Given the description of an element on the screen output the (x, y) to click on. 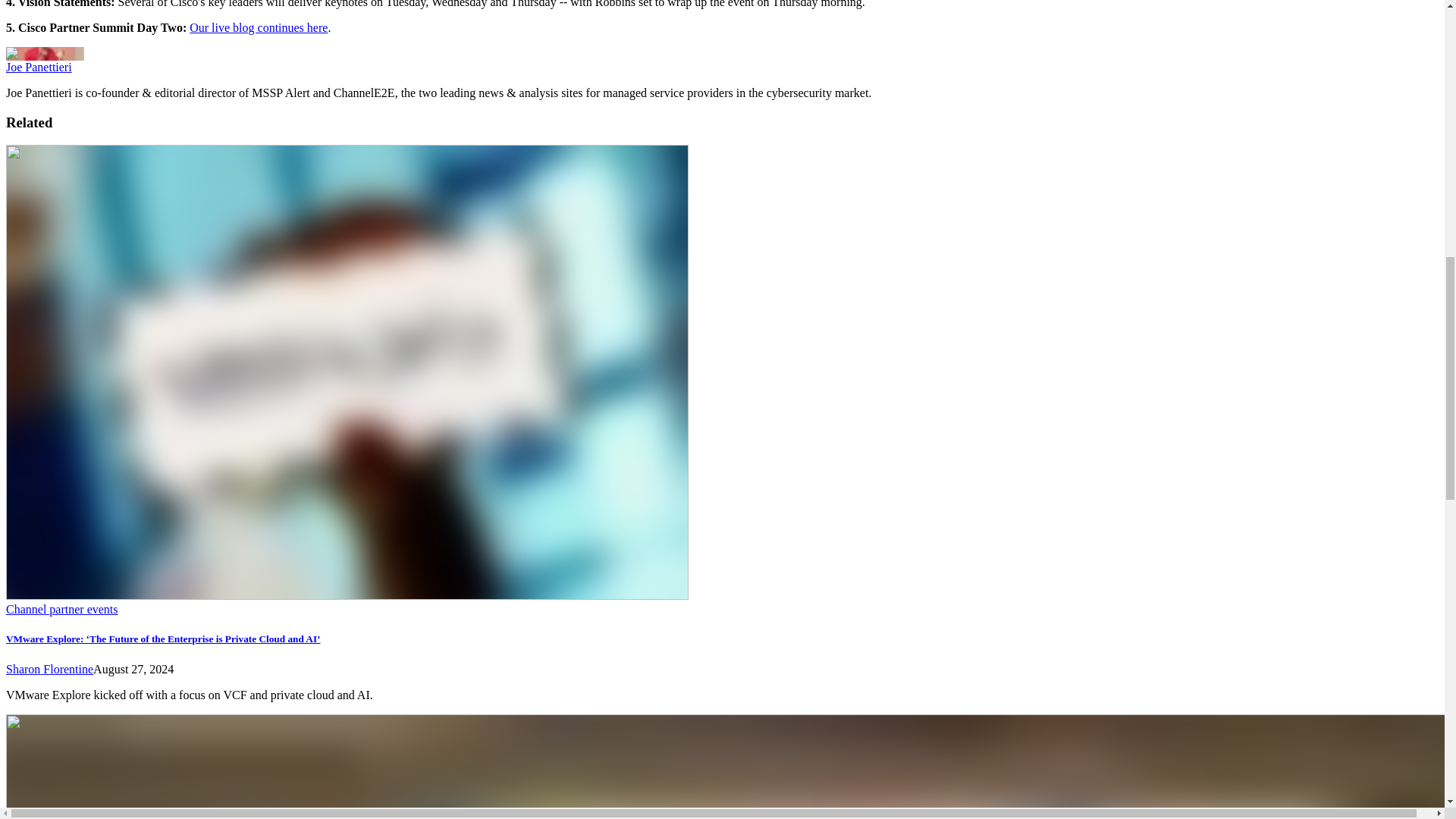
Sharon Florentine (49, 668)
Our live blog continues here (258, 27)
Joe Panettieri (38, 66)
Channel partner events (61, 608)
